Given the description of an element on the screen output the (x, y) to click on. 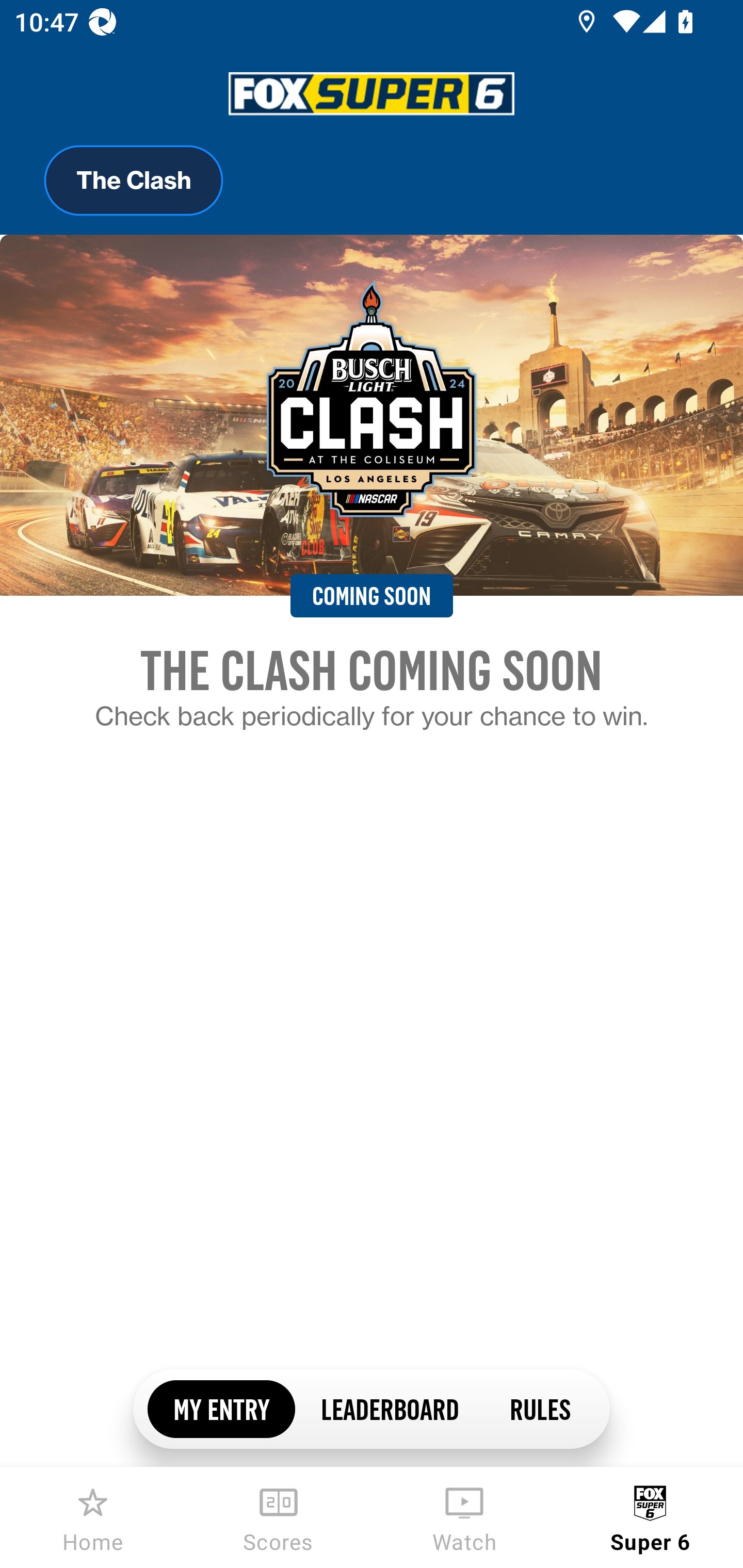
LEADERBOARD (388, 1408)
RULES (539, 1408)
Home (92, 1517)
Scores (278, 1517)
Watch (464, 1517)
